Given the description of an element on the screen output the (x, y) to click on. 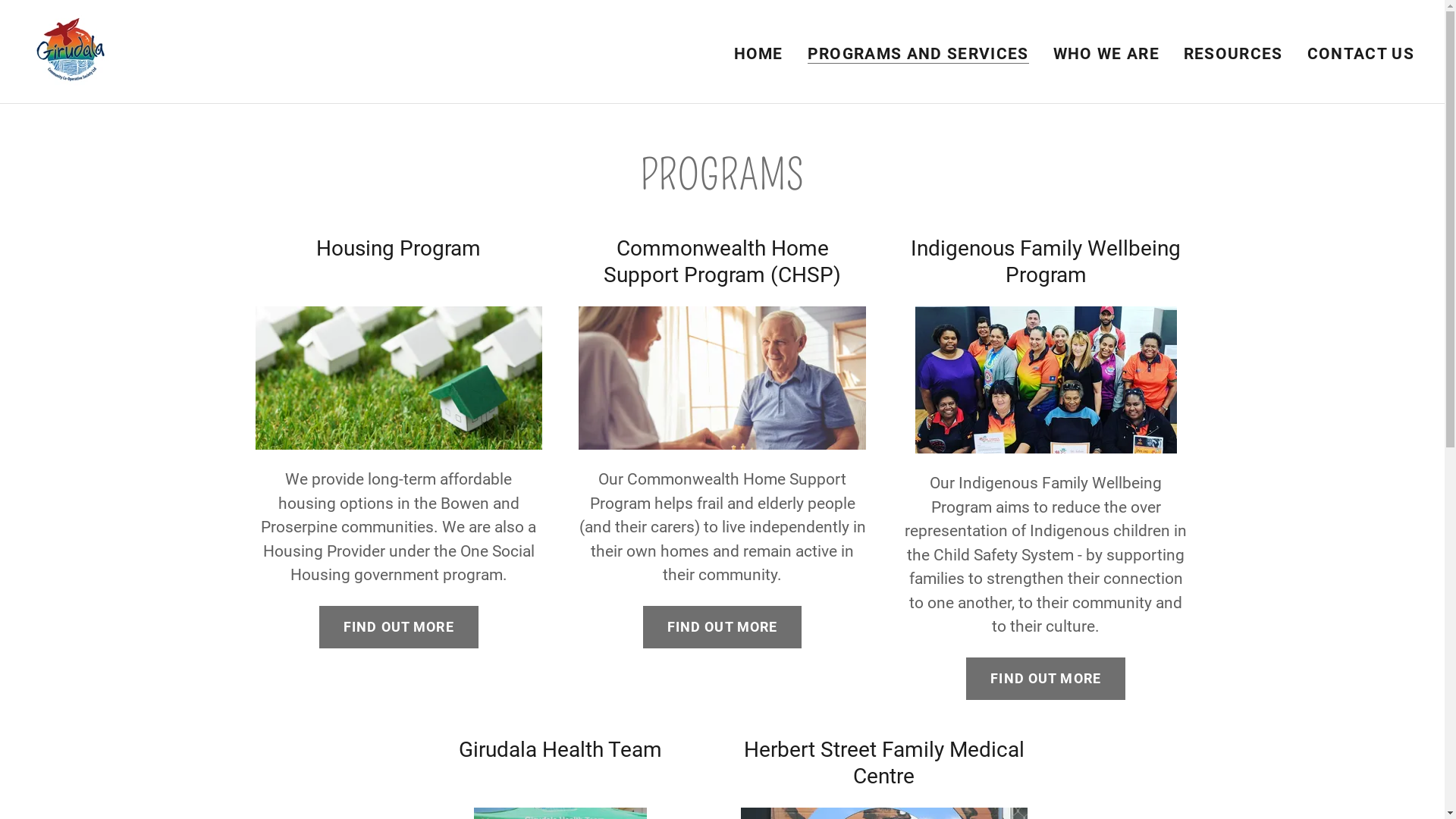
FIND OUT MORE Element type: text (1045, 677)
HOME Element type: text (758, 52)
Girudala Community Cooperative Society Ltd Element type: hover (71, 50)
FIND OUT MORE Element type: text (398, 626)
WHO WE ARE Element type: text (1106, 52)
CONTACT US Element type: text (1360, 52)
FIND OUT MORE Element type: text (722, 626)
PROGRAMS AND SERVICES Element type: text (918, 52)
RESOURCES Element type: text (1233, 52)
